Given the description of an element on the screen output the (x, y) to click on. 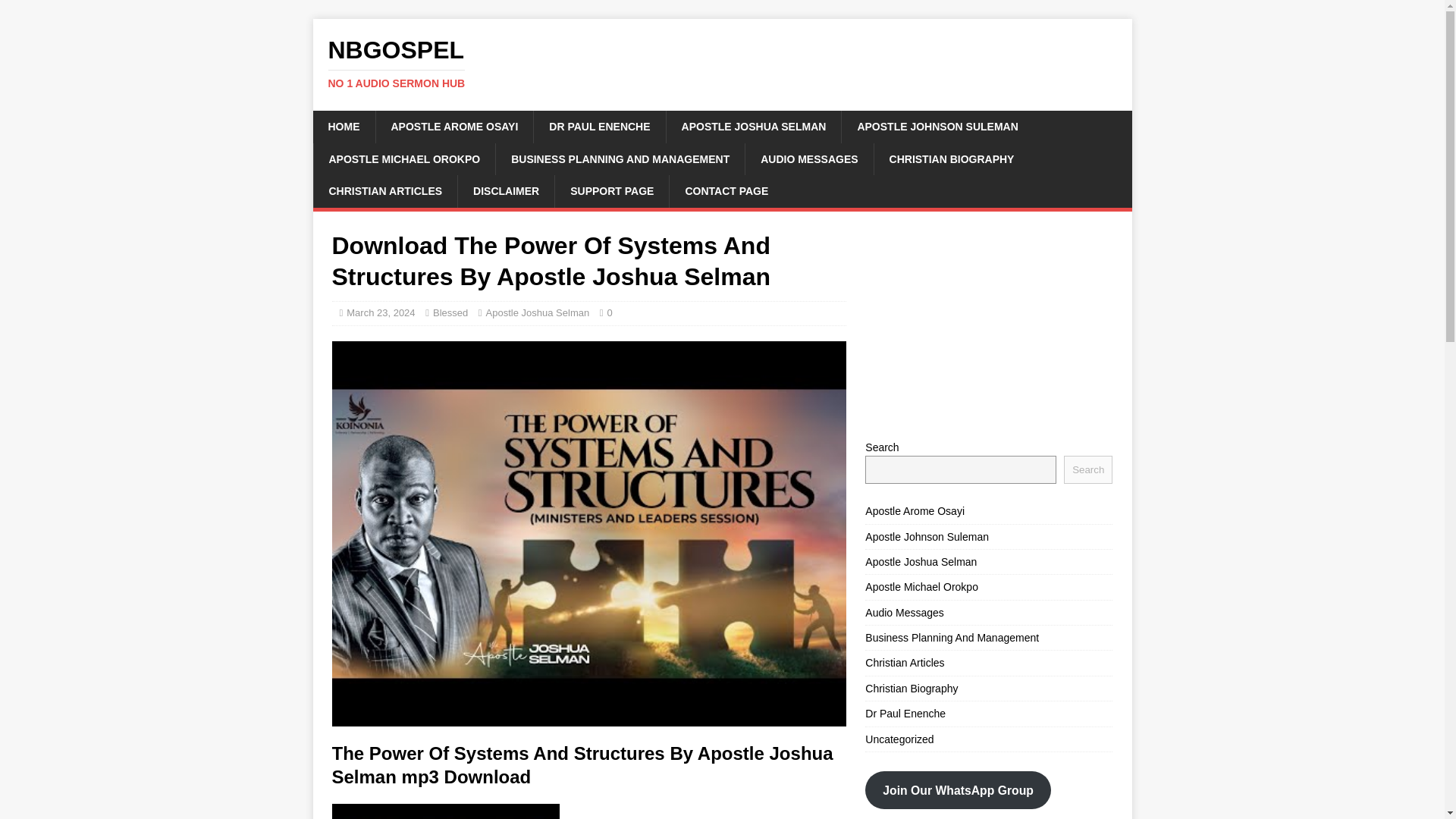
CHRISTIAN BIOGRAPHY (951, 159)
APOSTLE JOSHUA SELMAN (721, 63)
Blessed (753, 126)
DR PAUL ENENCHE (449, 312)
Advertisement (598, 126)
HOME (988, 325)
SUPPORT PAGE (343, 126)
APOSTLE AROME OSAYI (611, 191)
